Given the description of an element on the screen output the (x, y) to click on. 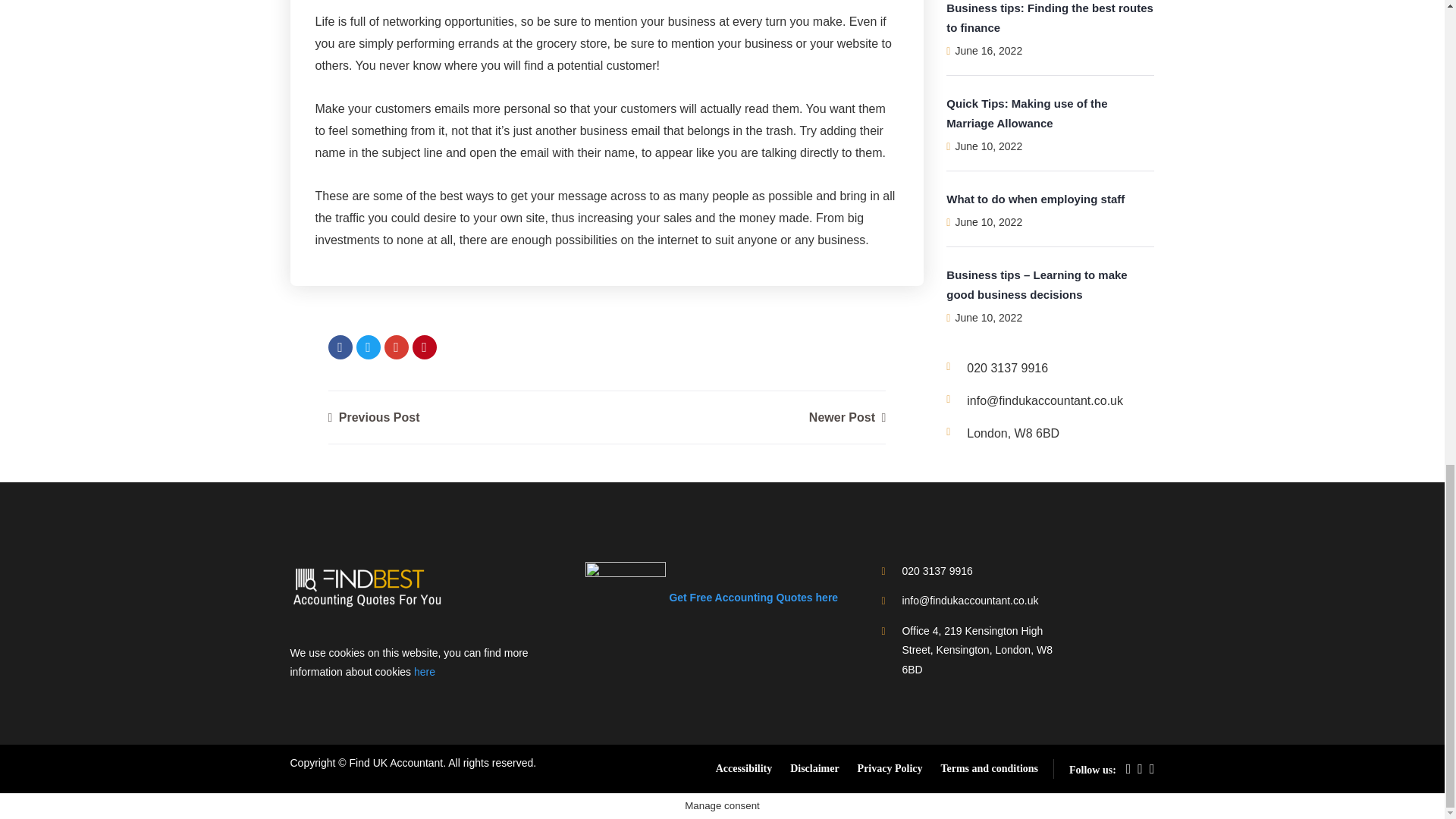
Previous Post (373, 417)
Pinterest (424, 346)
Facebook (339, 346)
here (424, 671)
Disclaimer (815, 767)
Terms and conditions (989, 767)
Get Free Accounting Quotes here (711, 597)
Privacy Policy (890, 767)
Twitter (368, 346)
Accessibility (744, 767)
